Given the description of an element on the screen output the (x, y) to click on. 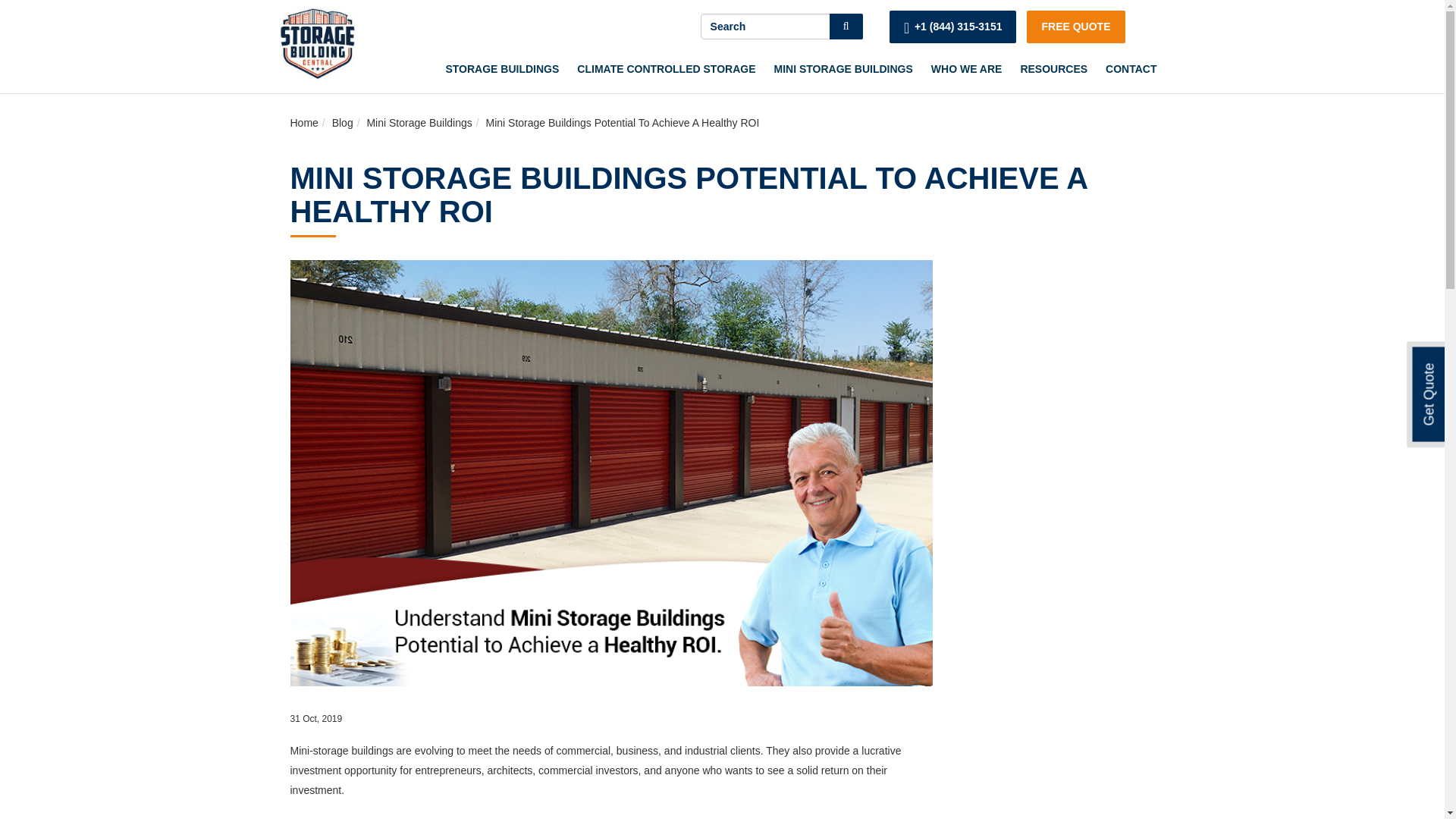
Climate Controlled Storage (665, 69)
RESOURCES (1053, 69)
CLIMATE CONTROLLED STORAGE (665, 69)
CONTACT (1131, 69)
Contact (1131, 69)
FREE QUOTE (1075, 26)
MINI STORAGE BUILDINGS (842, 69)
WHO WE ARE (966, 69)
Blog (342, 122)
Mini Storage Buildings (418, 122)
Who We Are (966, 69)
Mini Storage Buildings (842, 69)
Storage Buildings (501, 69)
Resources (1053, 69)
STORAGE BUILDINGS (501, 69)
